Given the description of an element on the screen output the (x, y) to click on. 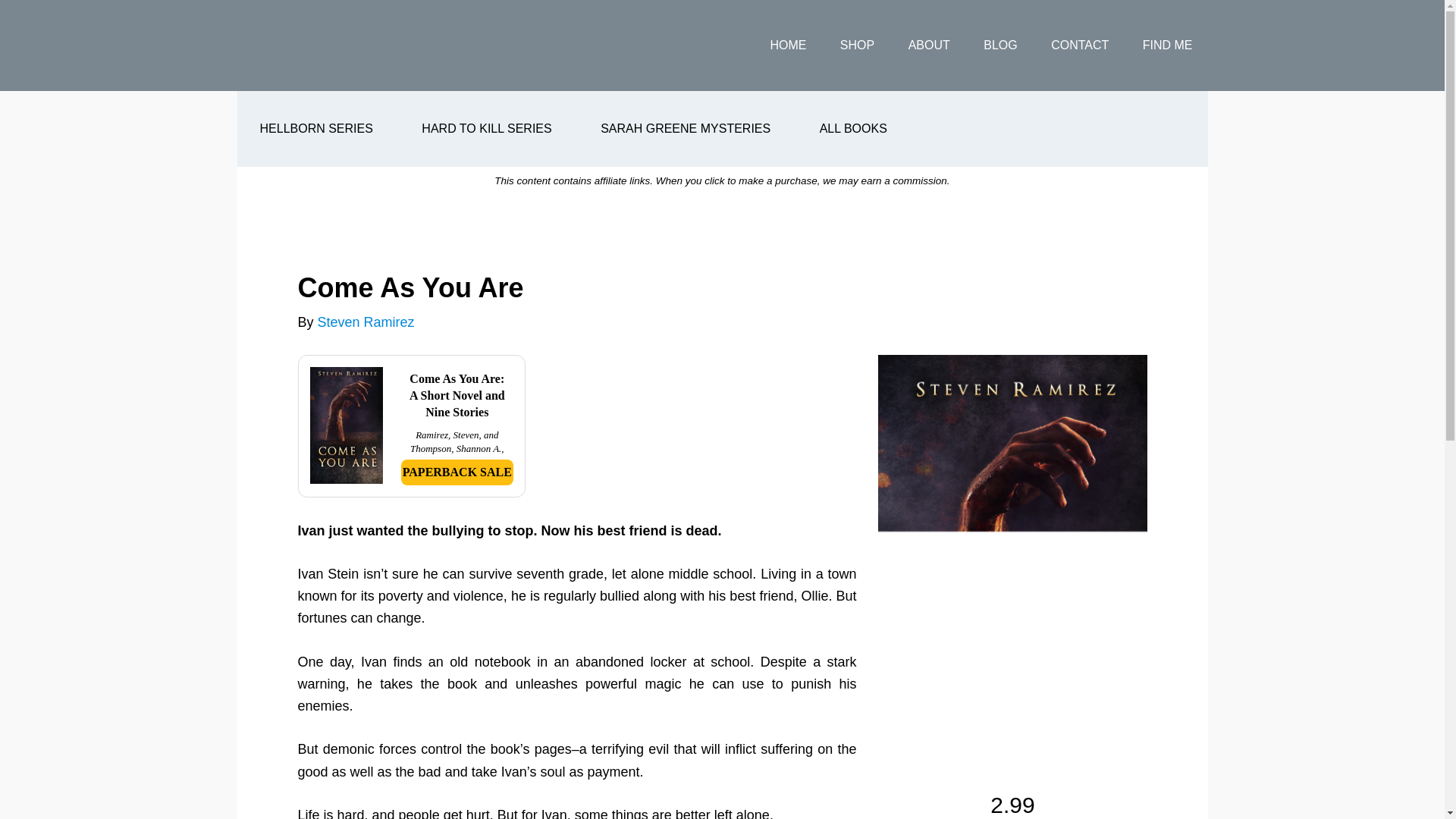
ALL BOOKS (853, 128)
Steven Ramirez (357, 45)
SARAH GREENE MYSTERIES (685, 128)
CONTACT (1079, 45)
HARD TO KILL SERIES (485, 128)
Steven Ramirez (365, 322)
HELLBORN SERIES (314, 128)
PAPERBACK SALE (456, 472)
